Given the description of an element on the screen output the (x, y) to click on. 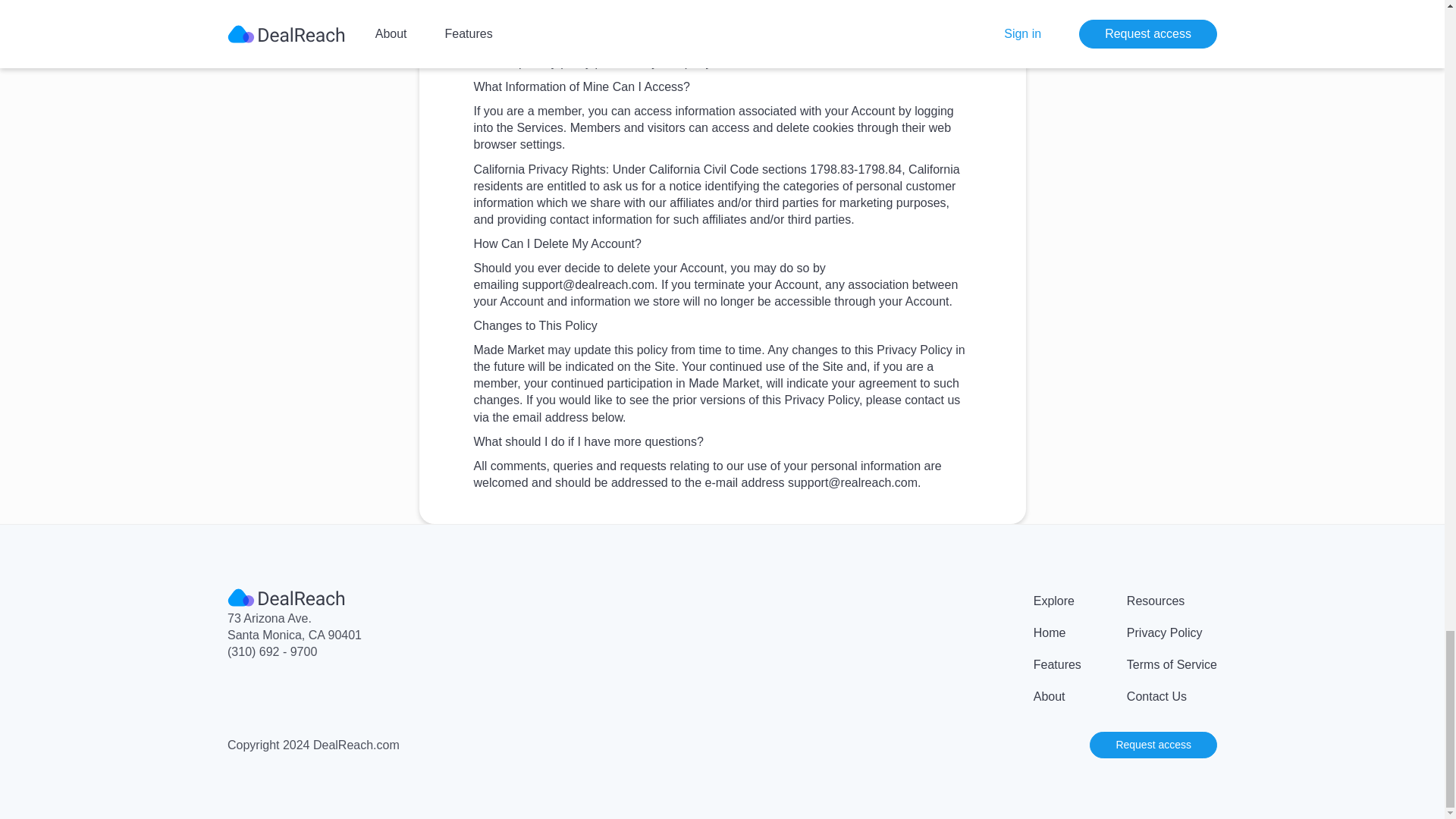
Request access (1153, 745)
Contact Us (1156, 696)
Terms of Service (1171, 664)
Privacy Policy (1164, 632)
Home (1049, 632)
Features (1057, 664)
About (1049, 696)
